Given the description of an element on the screen output the (x, y) to click on. 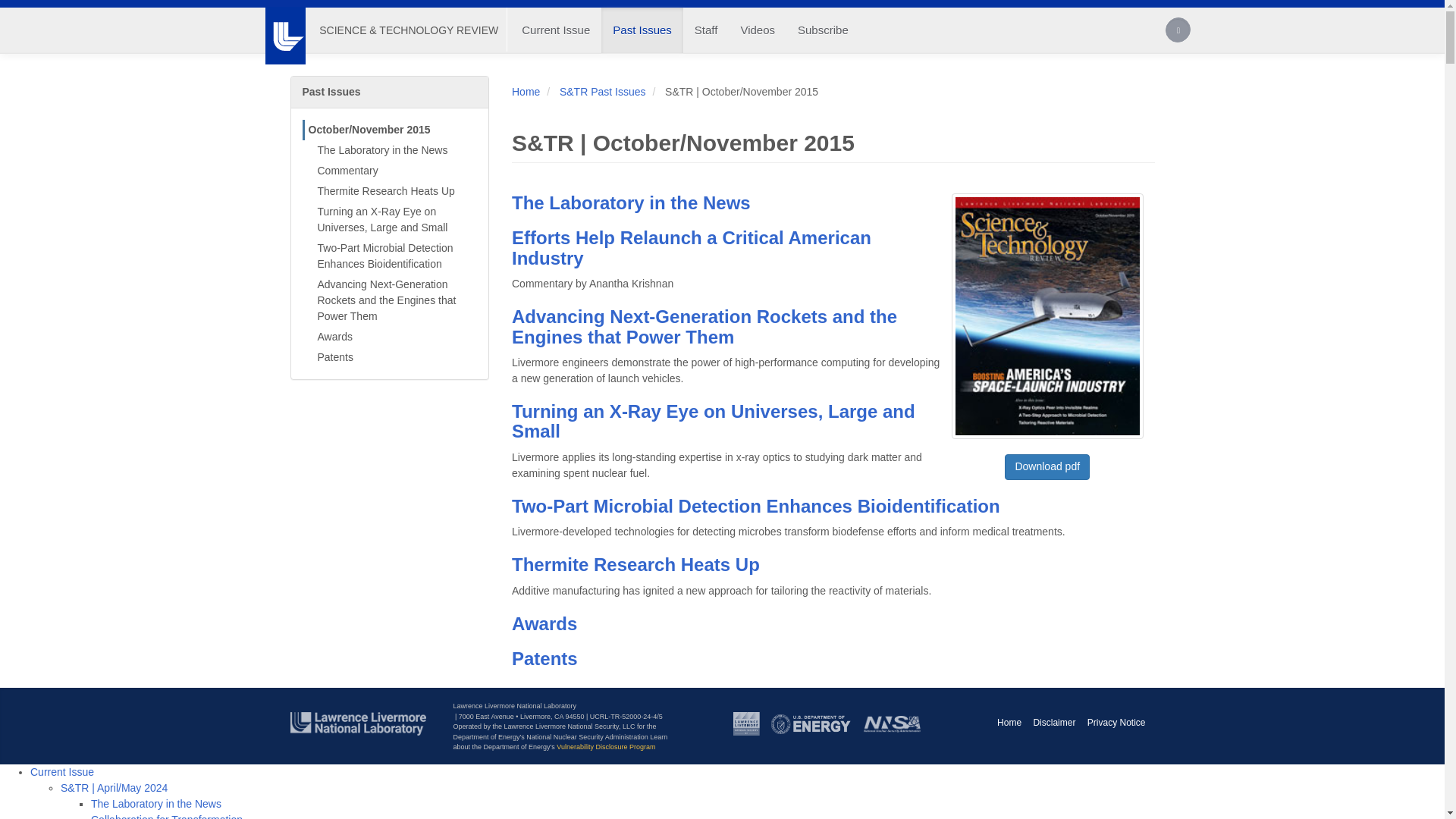
Current Issue (556, 30)
Home (407, 30)
Past Issues (641, 30)
Search (1179, 31)
